Given the description of an element on the screen output the (x, y) to click on. 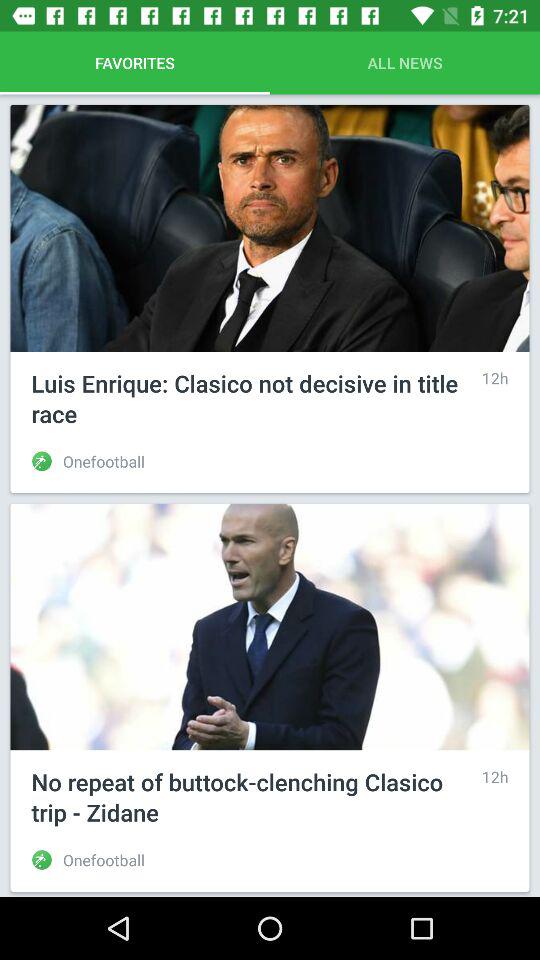
click on first image (269, 228)
click on the second frame (269, 697)
